Given the description of an element on the screen output the (x, y) to click on. 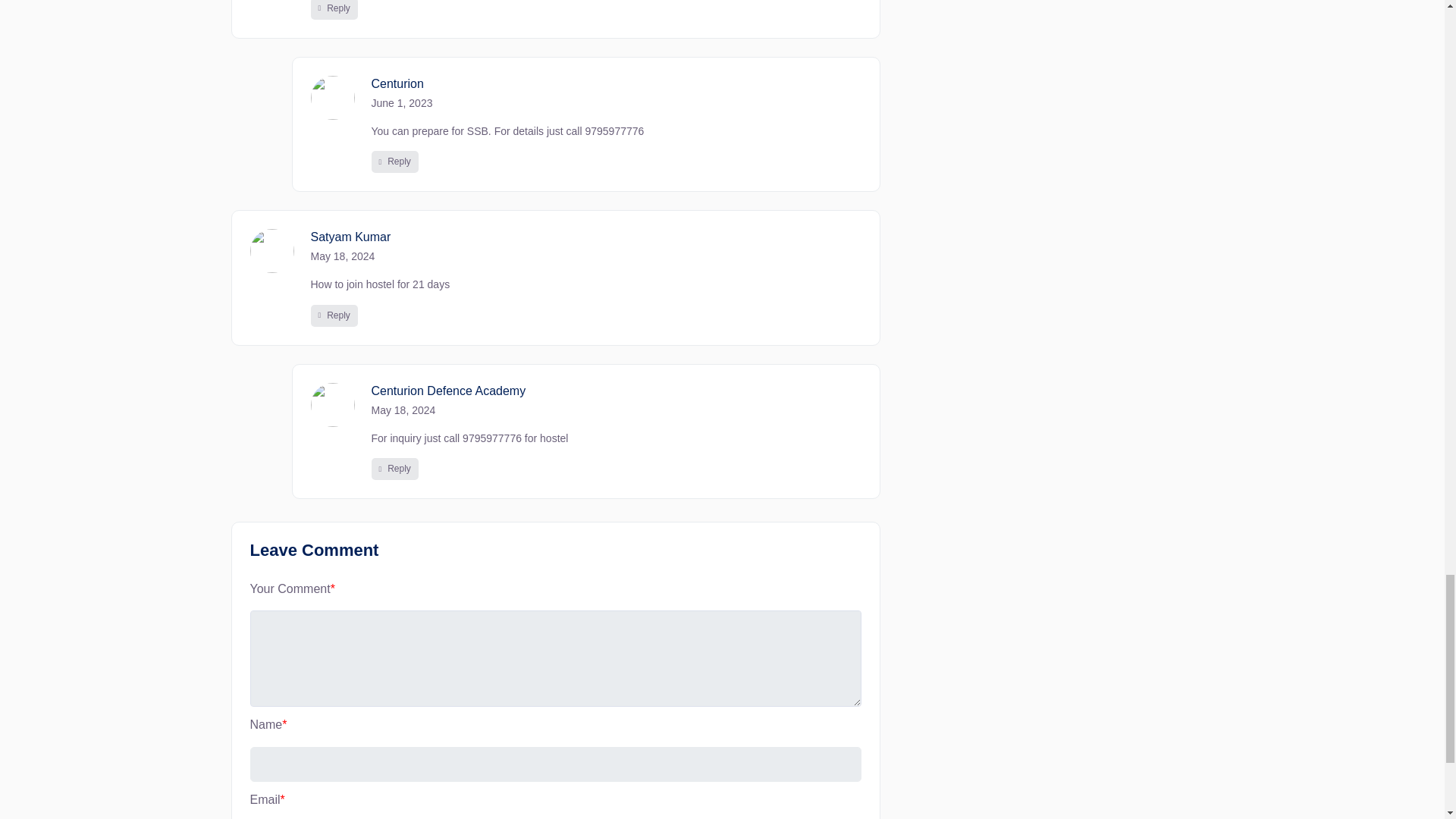
Reply (334, 9)
